Given the description of an element on the screen output the (x, y) to click on. 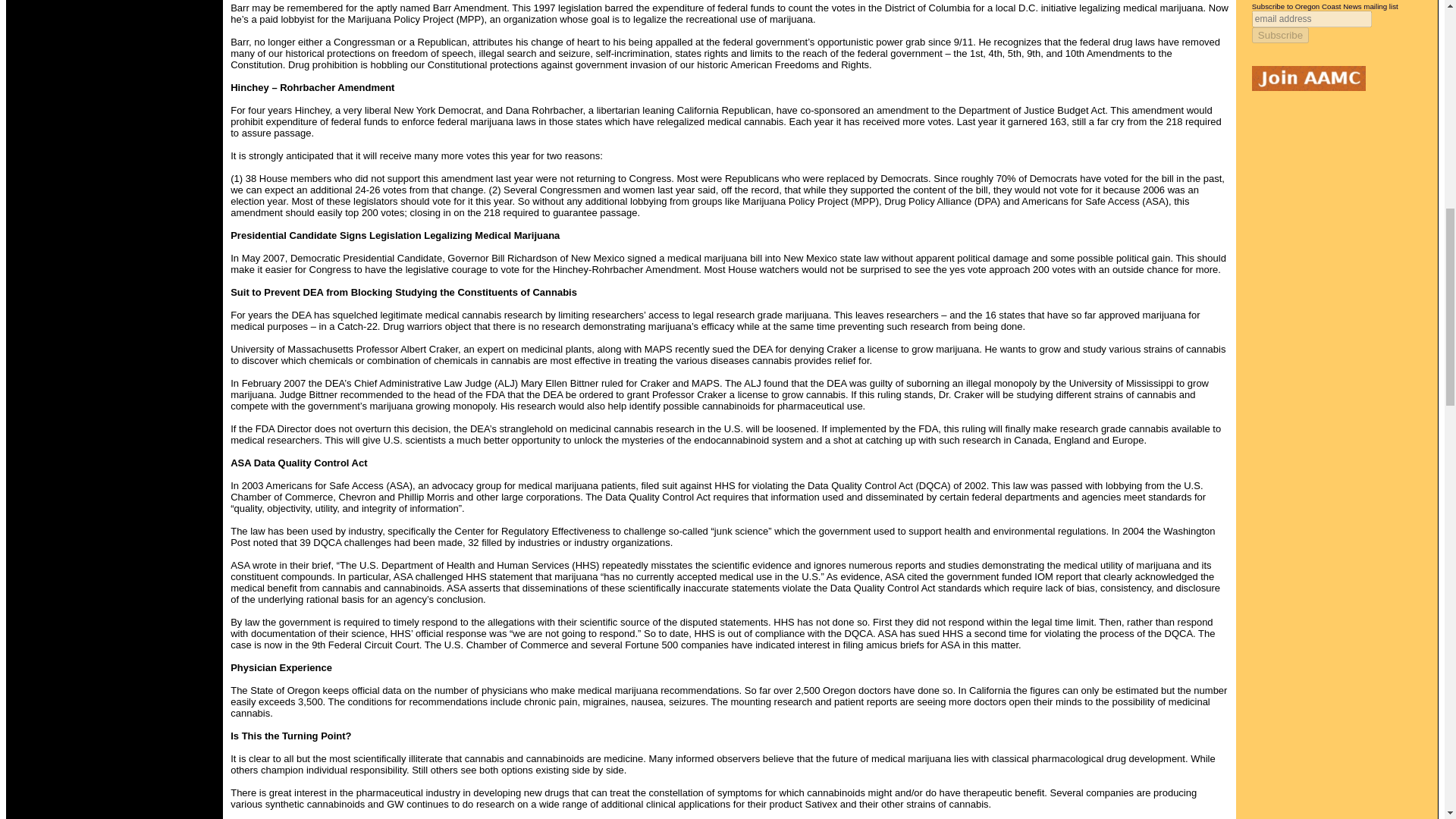
Subscribe (1280, 35)
